Given the description of an element on the screen output the (x, y) to click on. 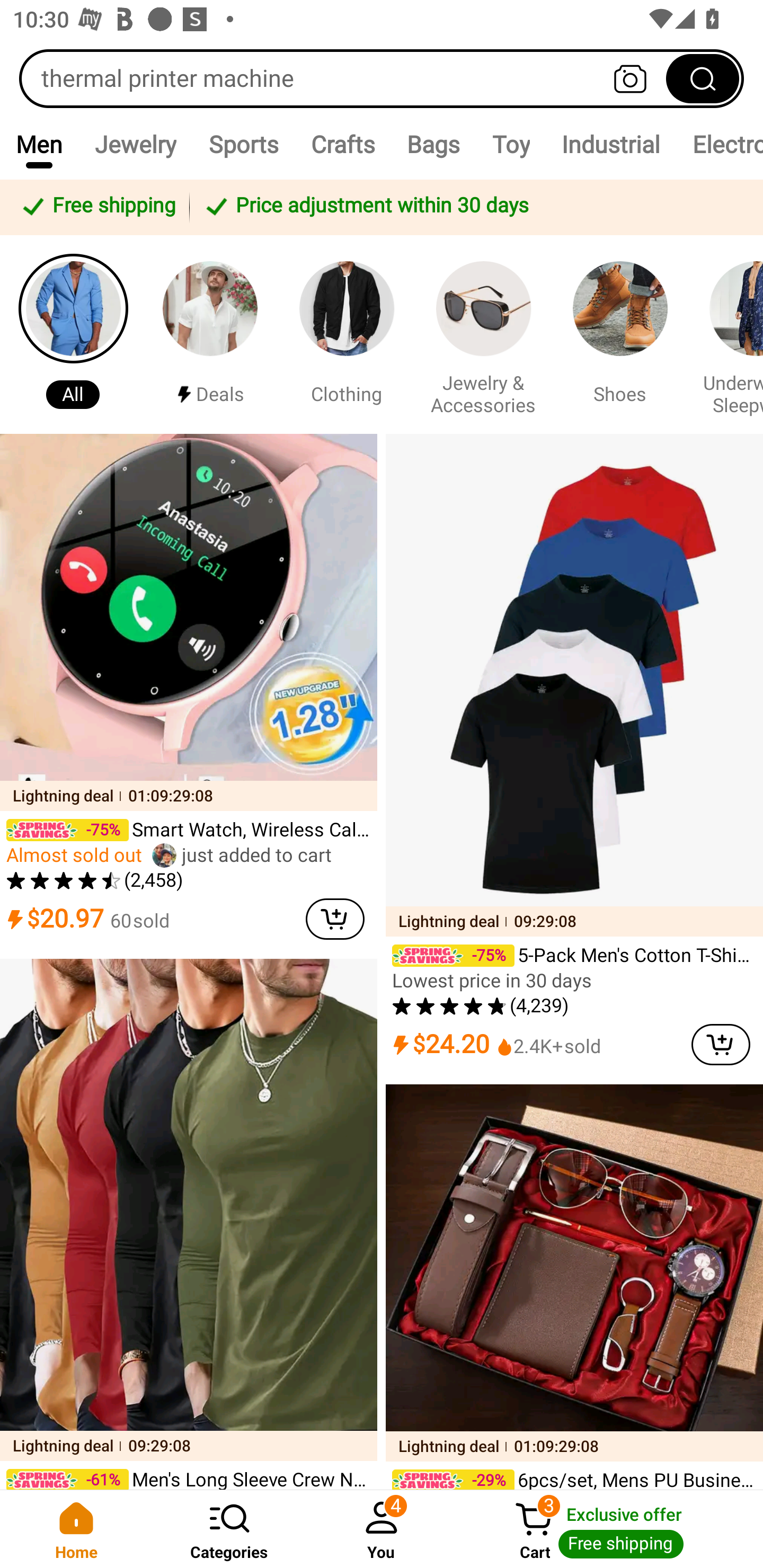
thermal printer machine (381, 78)
Men (39, 144)
Jewelry (135, 144)
Sports (243, 144)
Crafts (342, 144)
Bags (433, 144)
Toy (510, 144)
Industrial (610, 144)
Free shipping (97, 206)
Price adjustment within 30 days (472, 206)
All (72, 333)
￼￼Deals (209, 333)
Clothing (346, 333)
Jewelry & Accessories (482, 333)
Shoes (619, 333)
Underwear & Sleepwear (729, 333)
cart delete (334, 918)
cart delete (720, 1043)
Home (76, 1528)
Categories (228, 1528)
You 4 You (381, 1528)
Cart 3 Cart Exclusive offer (610, 1528)
